Given the description of an element on the screen output the (x, y) to click on. 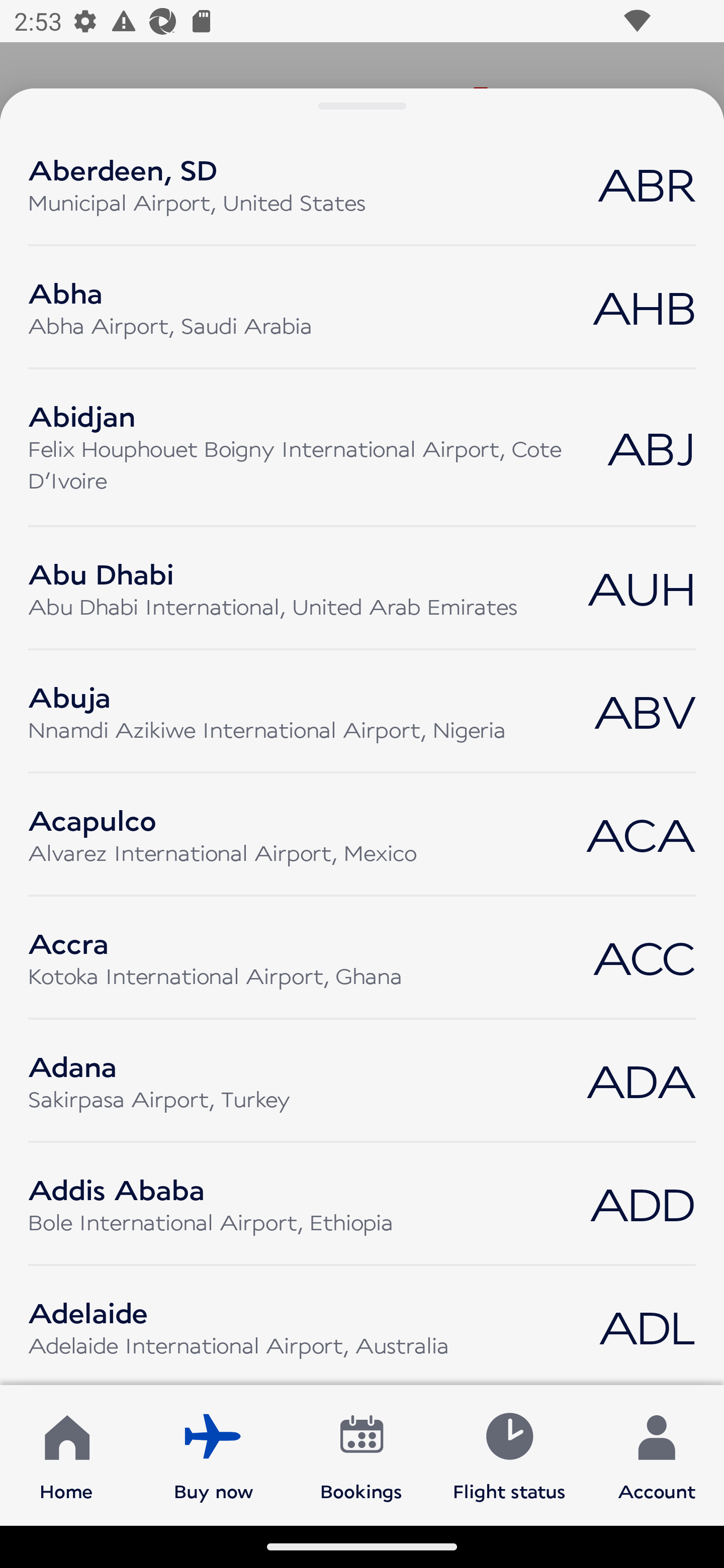
Aberdeen, SD Municipal Airport, United States ABR (361, 183)
Abha Abha Airport, Saudi Arabia AHB (361, 306)
Acapulco Alvarez International Airport, Mexico ACA (361, 833)
Accra Kotoka International Airport, Ghana ACC (361, 957)
Adana Sakirpasa Airport, Turkey ADA (361, 1080)
Home (66, 1454)
Bookings (361, 1454)
Flight status (509, 1454)
Account (657, 1454)
